Given the description of an element on the screen output the (x, y) to click on. 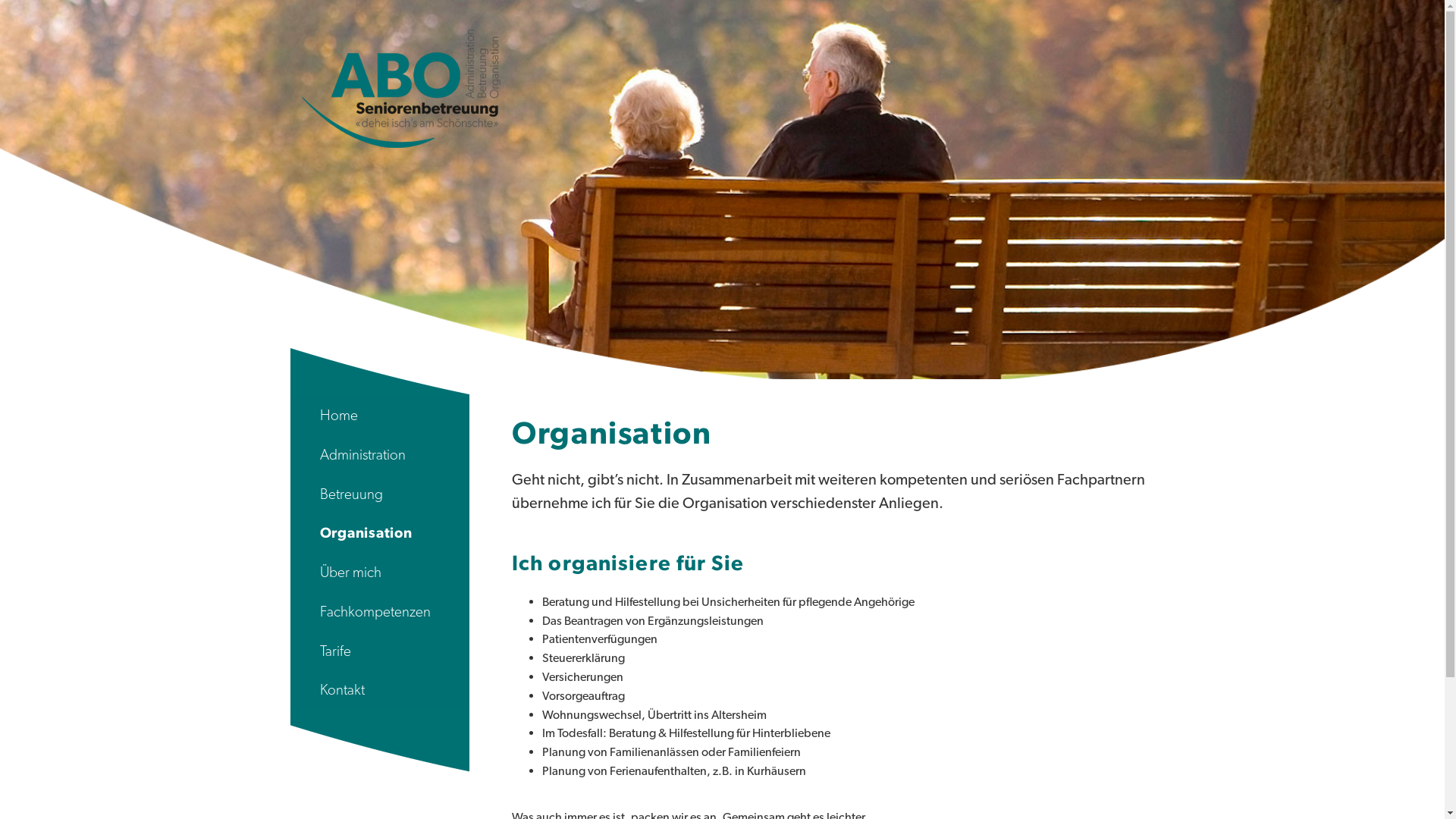
Fachkompetenzen Element type: text (378, 611)
Tarife Element type: text (378, 651)
Organisation Element type: text (378, 533)
Home Element type: text (378, 415)
Betreuung Element type: text (378, 493)
Kontakt Element type: text (378, 690)
Administration Element type: text (378, 454)
